Given the description of an element on the screen output the (x, y) to click on. 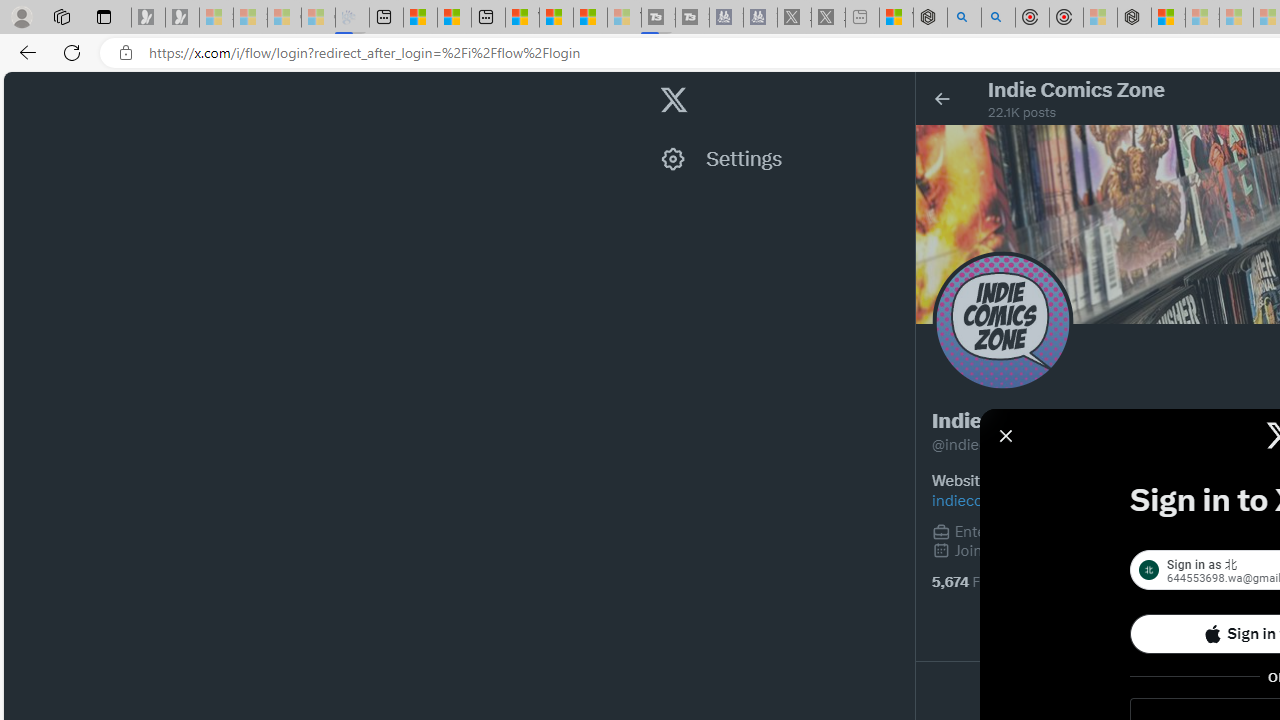
Nordace - Nordace Siena Is Not An Ordinary Backpack (1133, 17)
